Given the description of an element on the screen output the (x, y) to click on. 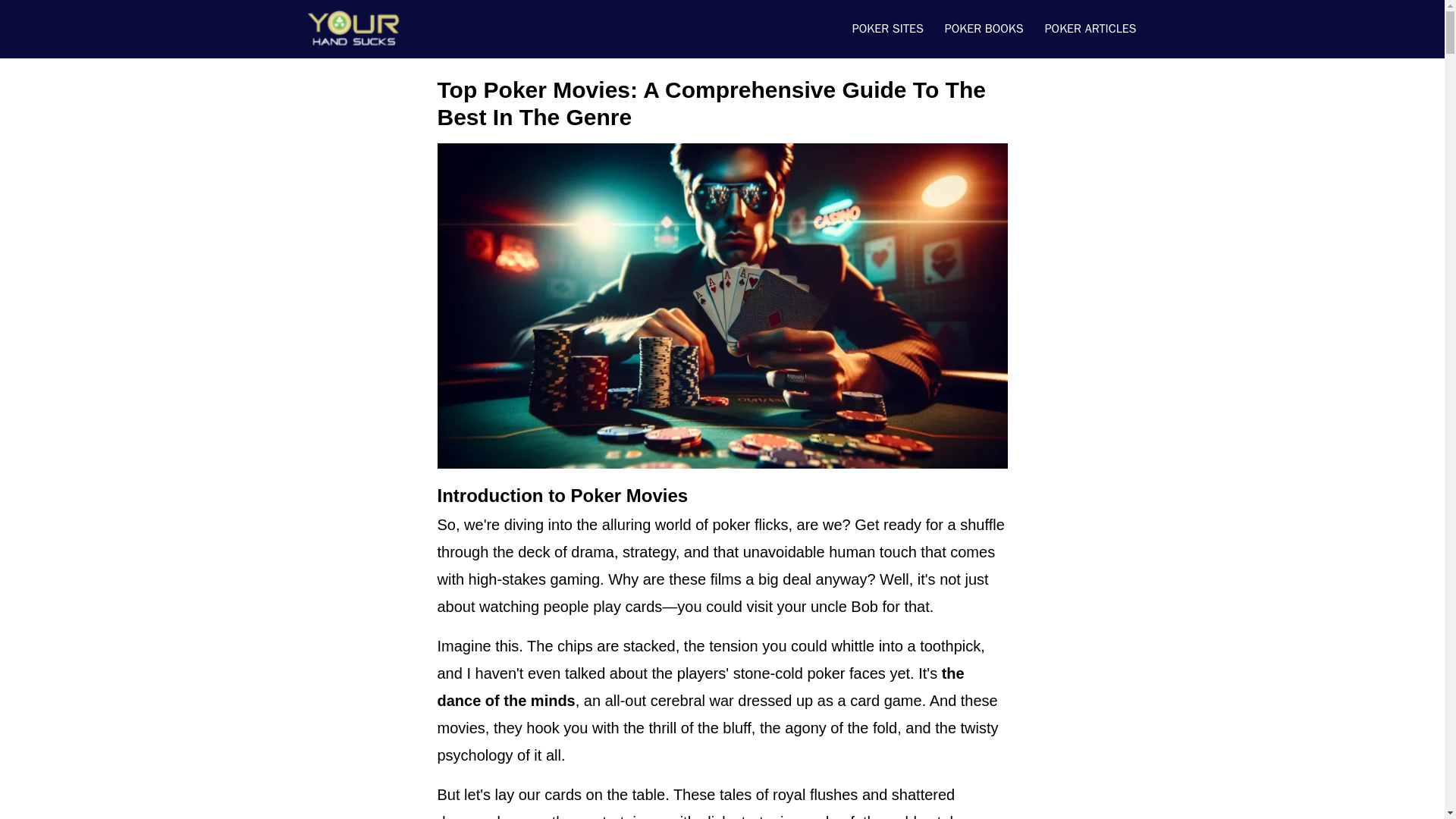
POKER BOOKS (984, 28)
POKER SITES (887, 28)
POKER ARTICLES (1091, 28)
